Given the description of an element on the screen output the (x, y) to click on. 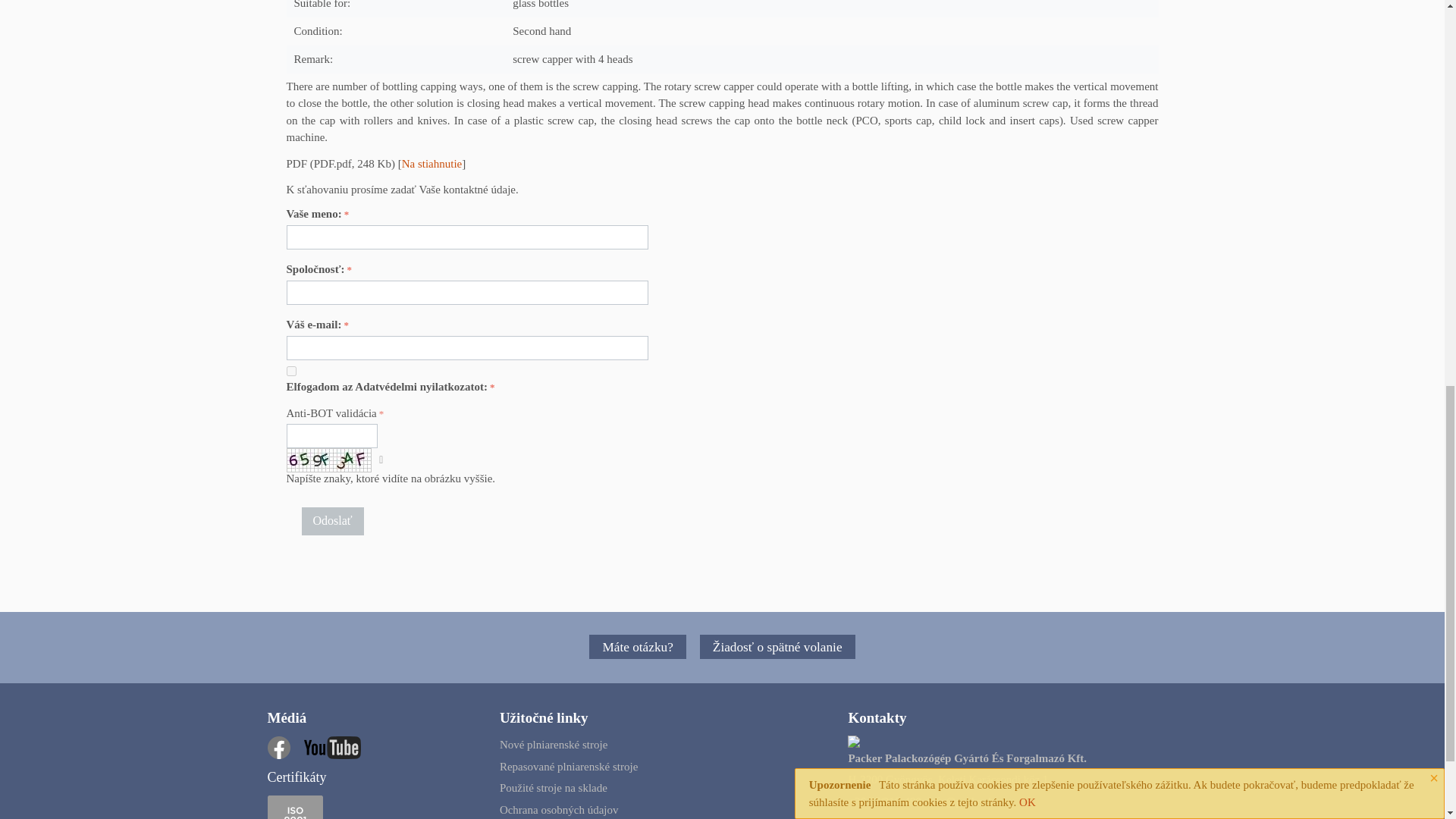
1 (291, 370)
